Given the description of an element on the screen output the (x, y) to click on. 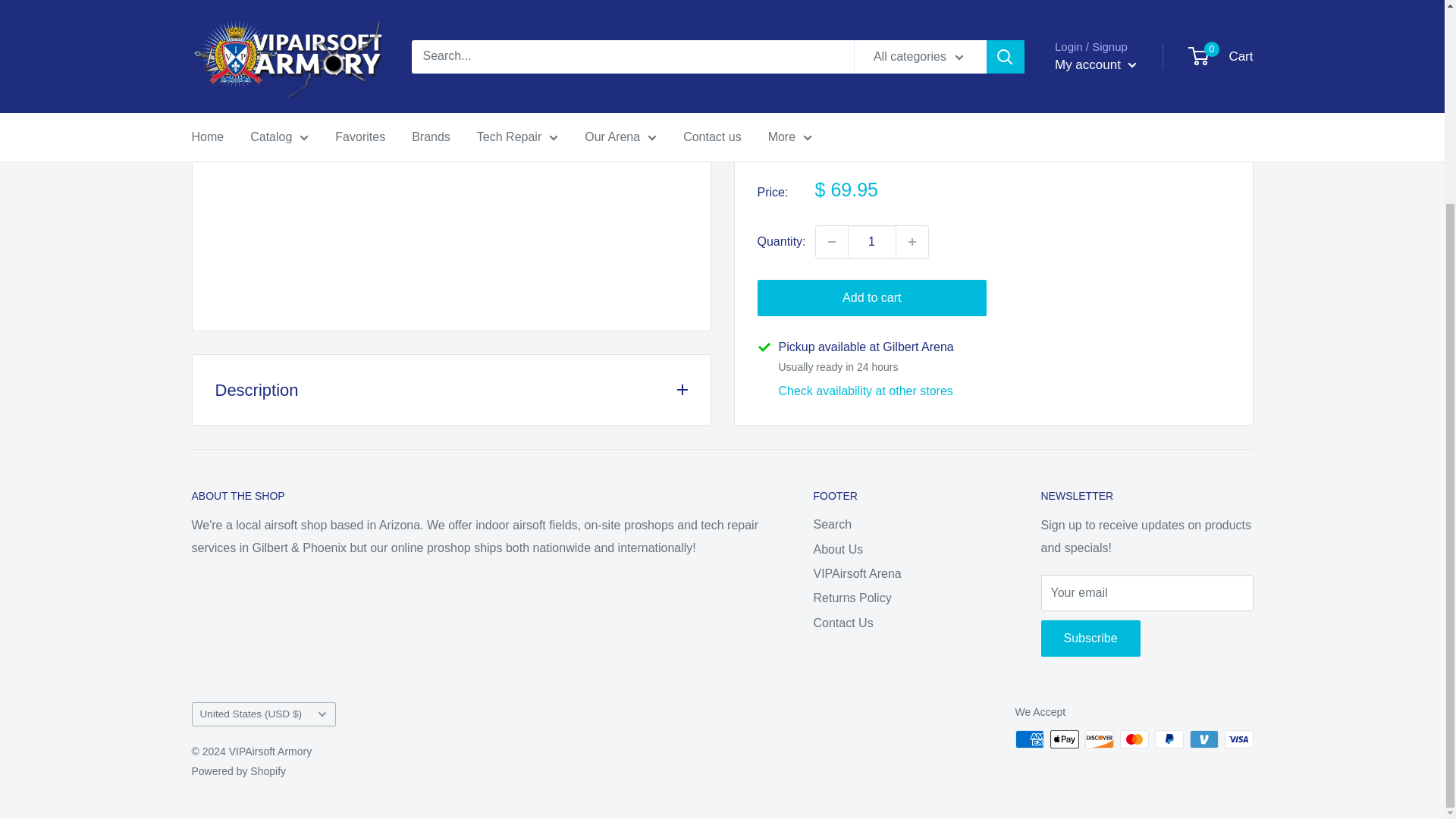
Decrease quantity by 1 (831, 133)
Increase quantity by 1 (912, 133)
1 (871, 133)
